Given the description of an element on the screen output the (x, y) to click on. 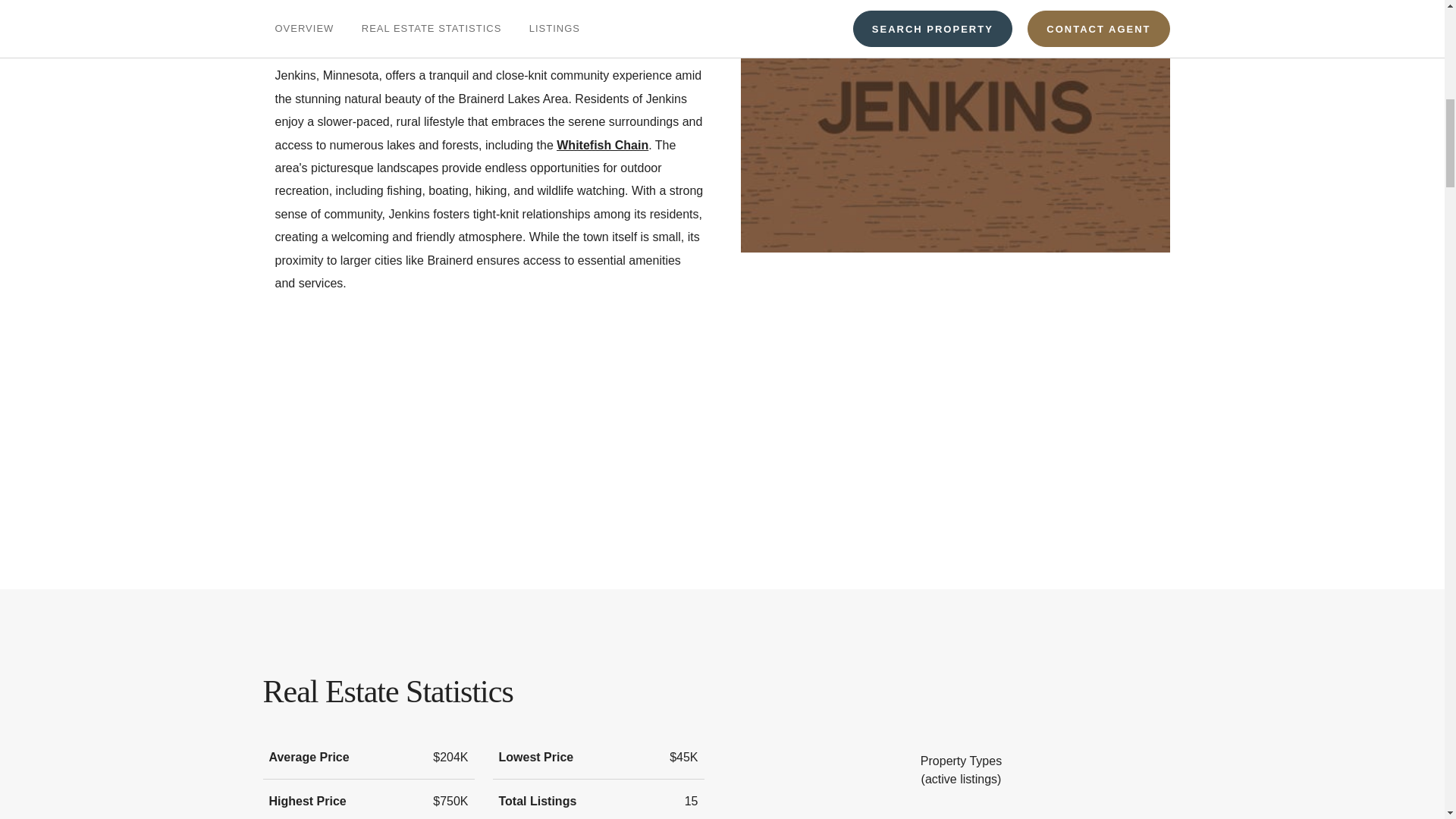
Whitefish Chain (601, 144)
